Given the description of an element on the screen output the (x, y) to click on. 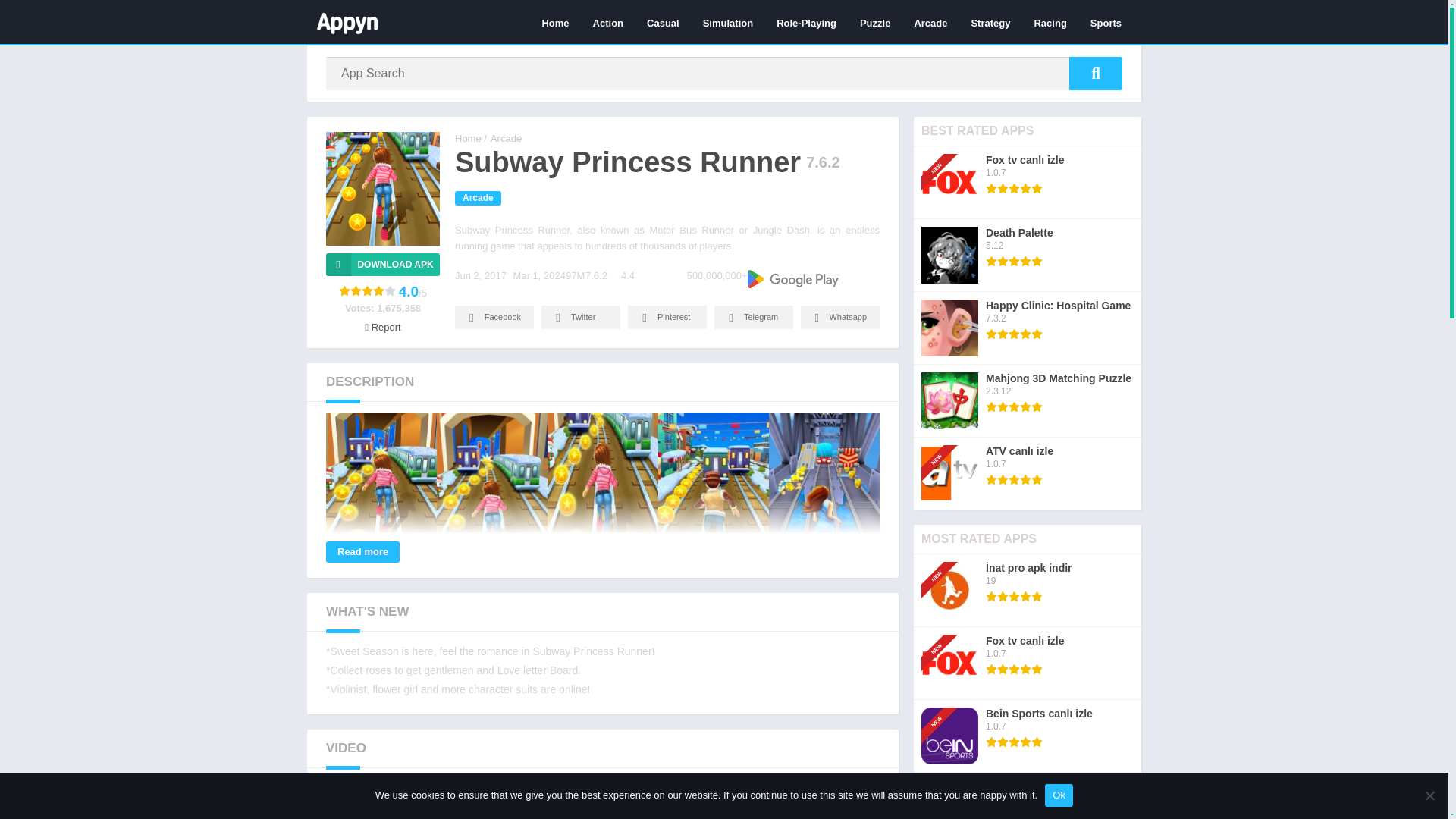
Simulation (727, 22)
Arcade (930, 22)
Home (467, 138)
Role-Playing (806, 22)
Puzzle (874, 22)
Pinterest (666, 317)
Whatsapp (839, 317)
Casual (662, 22)
Facebook (494, 317)
Sports (1105, 22)
DOWNLOAD APK (382, 264)
Telegram (753, 317)
New (941, 148)
Download APK (382, 264)
